Given the description of an element on the screen output the (x, y) to click on. 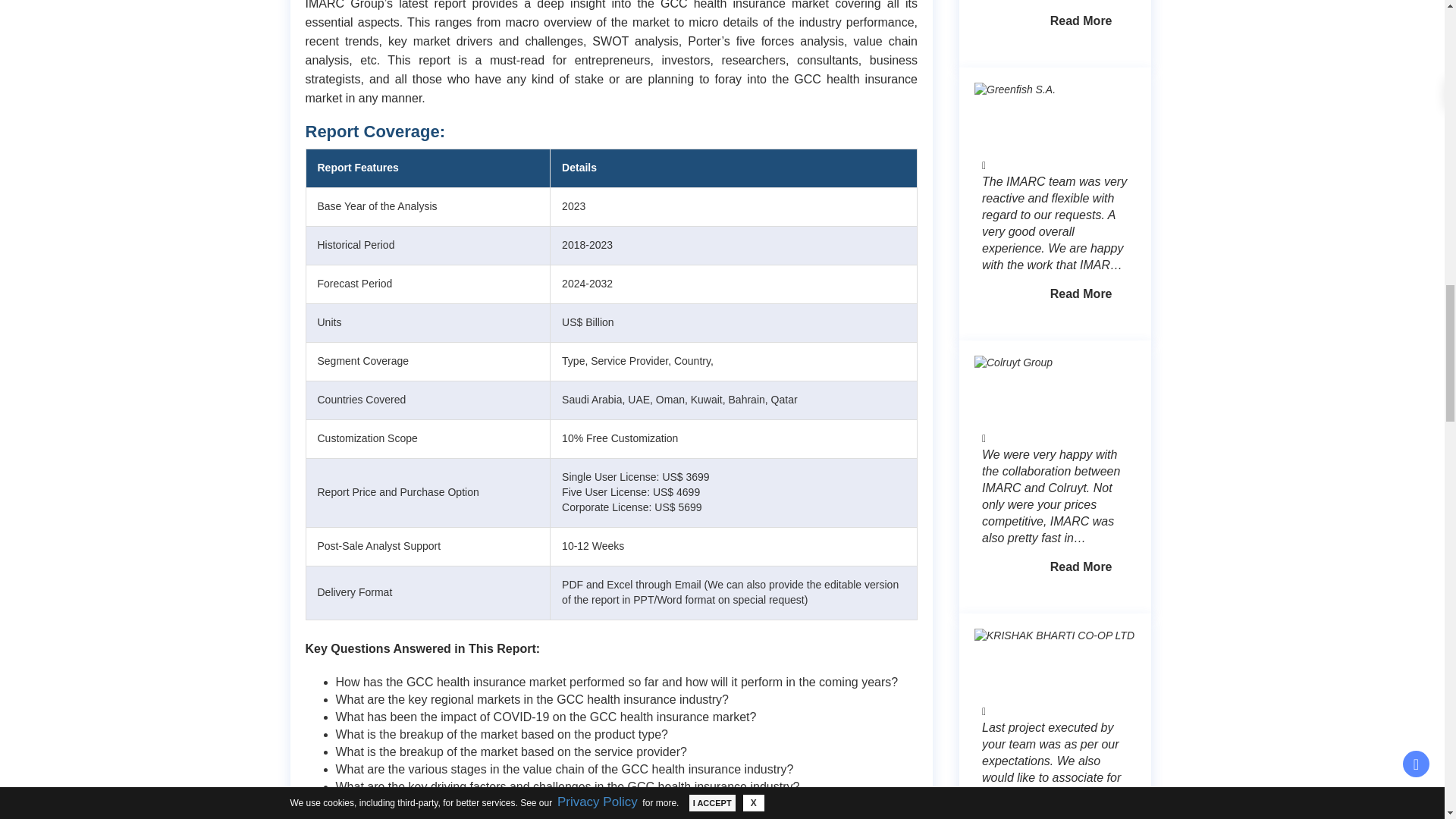
Know more (1081, 567)
Know more (1081, 21)
Know more (1081, 294)
